Given the description of an element on the screen output the (x, y) to click on. 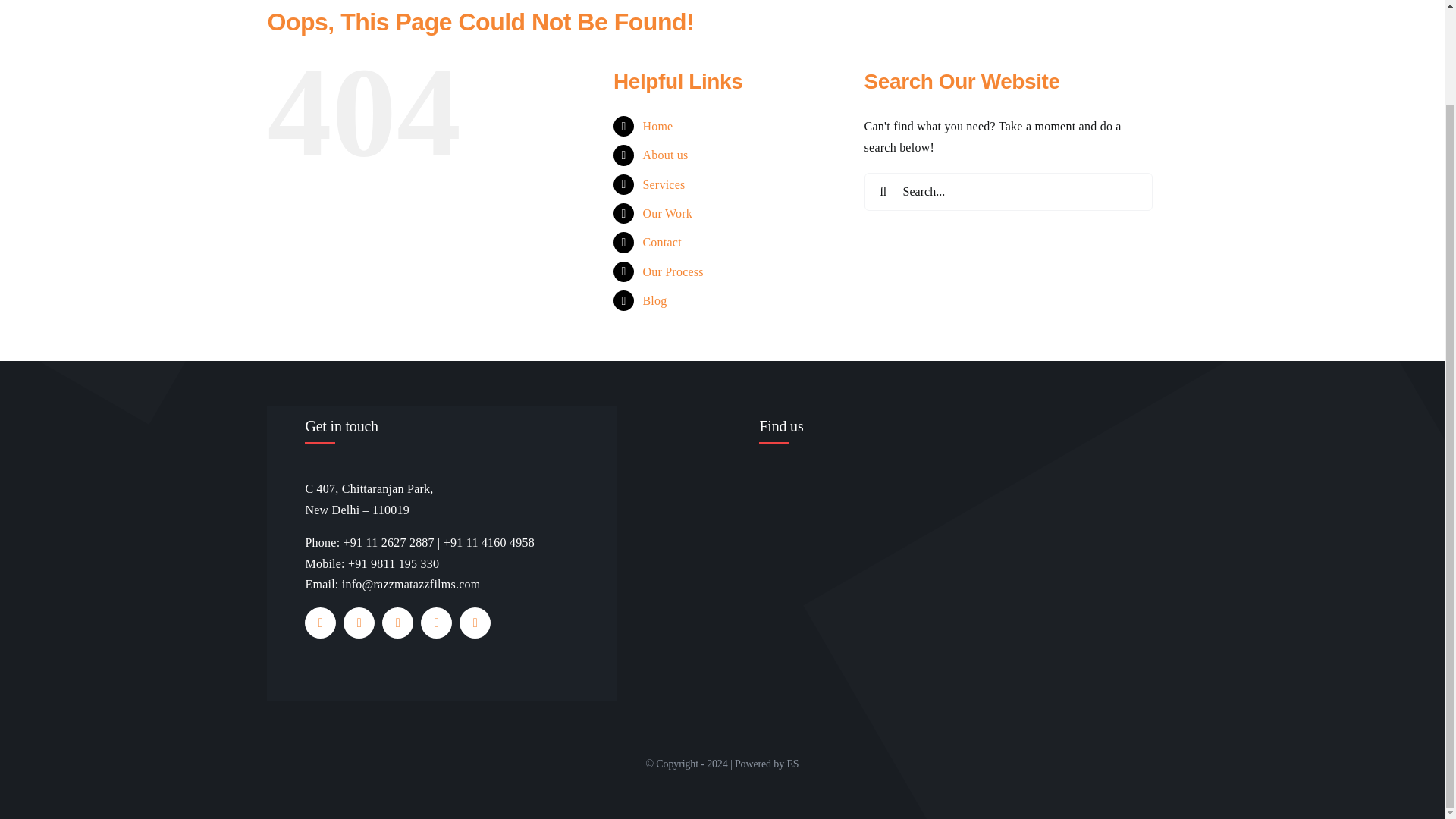
Twitter (358, 622)
Facebook (320, 622)
LinkedIn (475, 622)
YouTube (435, 622)
Instagram (397, 622)
